Given the description of an element on the screen output the (x, y) to click on. 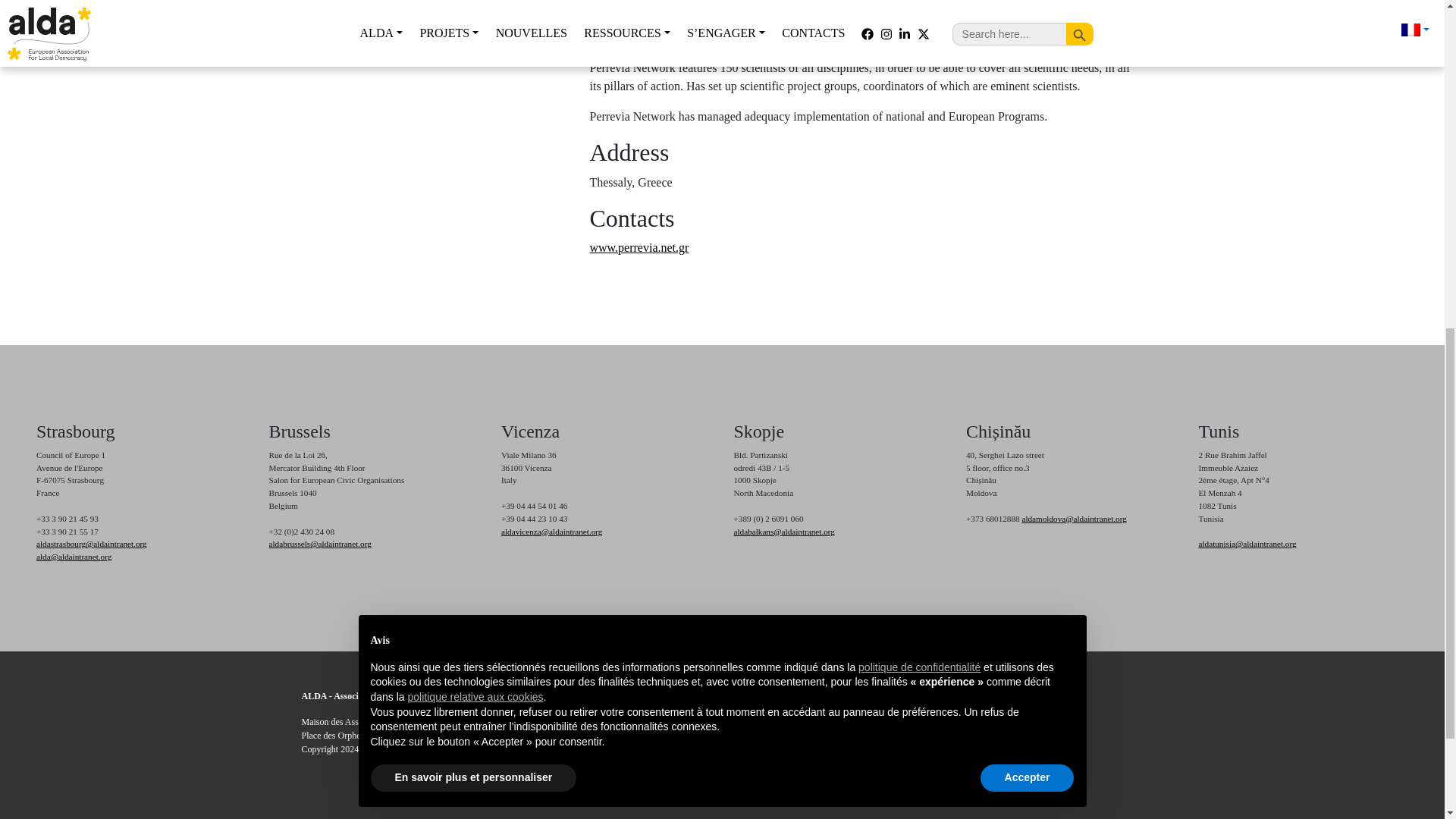
Privacy Policy  (904, 721)
www.perrevia.net.gr (638, 246)
Cookie Policy  (903, 735)
